Given the description of an element on the screen output the (x, y) to click on. 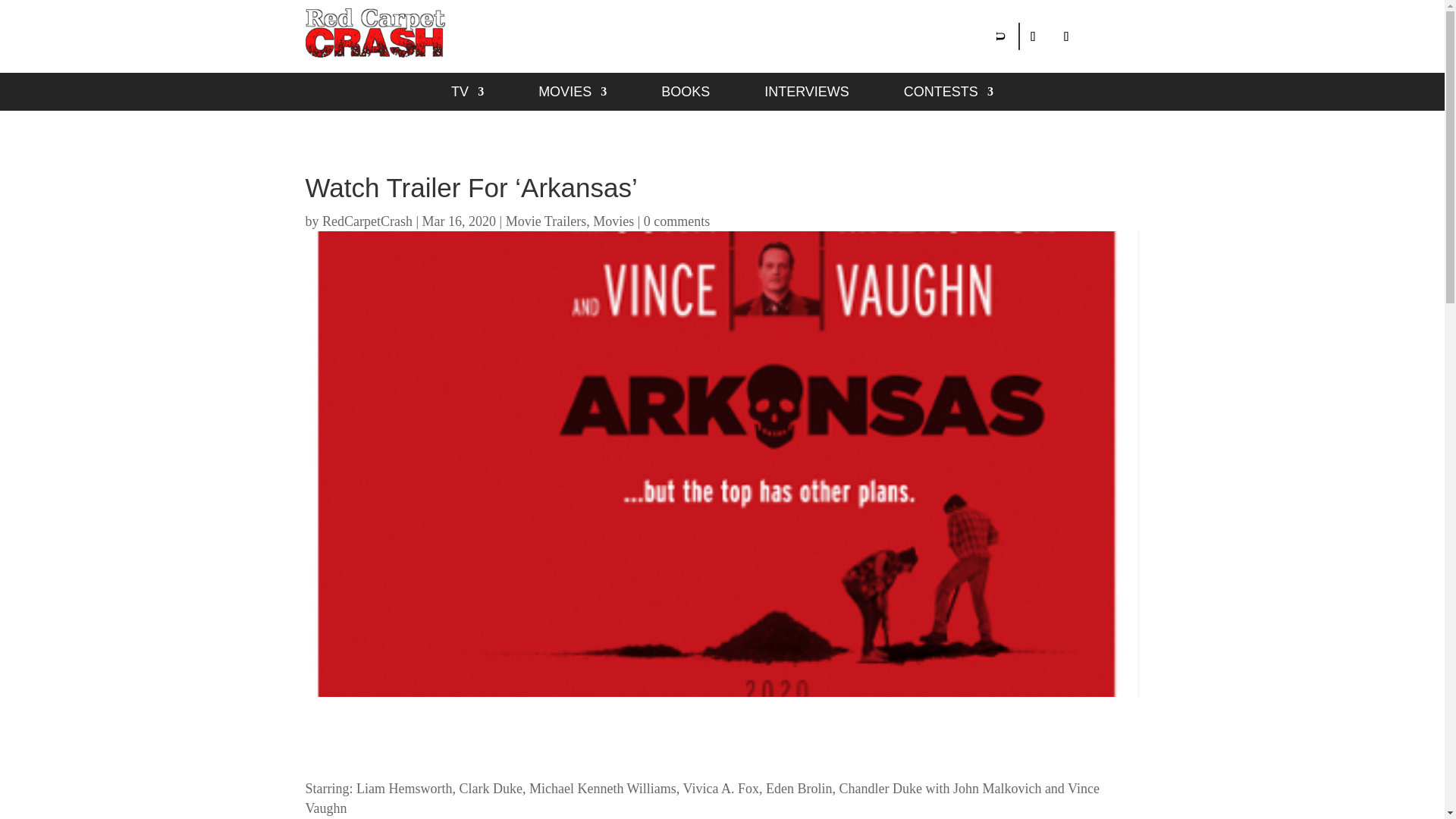
Posts by RedCarpetCrash (366, 221)
BOOKS (685, 94)
MOVIES (572, 94)
INTERVIEWS (806, 94)
Follow on Facebook (1031, 35)
CONTESTS (948, 94)
TV (467, 94)
Follow on X (1066, 35)
